Given the description of an element on the screen output the (x, y) to click on. 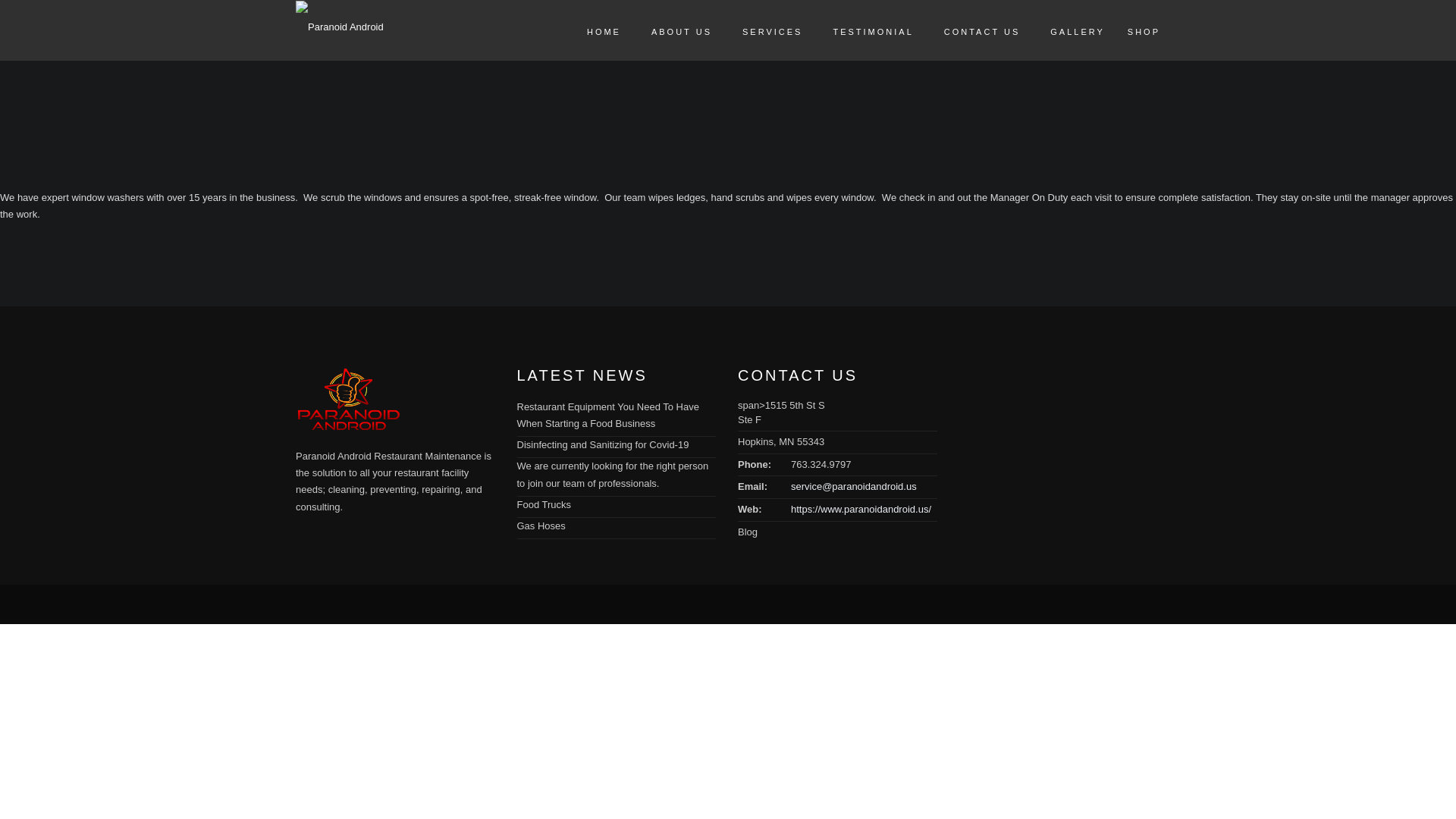
Testimonial (864, 30)
Disinfecting and Sanitizing for Covid-19 (602, 444)
About Us (673, 30)
Gallery (1069, 30)
Food Trucks (544, 504)
CONTACT US (974, 30)
Contact Us (974, 30)
HOME (596, 30)
SERVICES (764, 30)
Gas Hoses (541, 525)
Blog (747, 531)
Services (764, 30)
Home (596, 30)
